Given the description of an element on the screen output the (x, y) to click on. 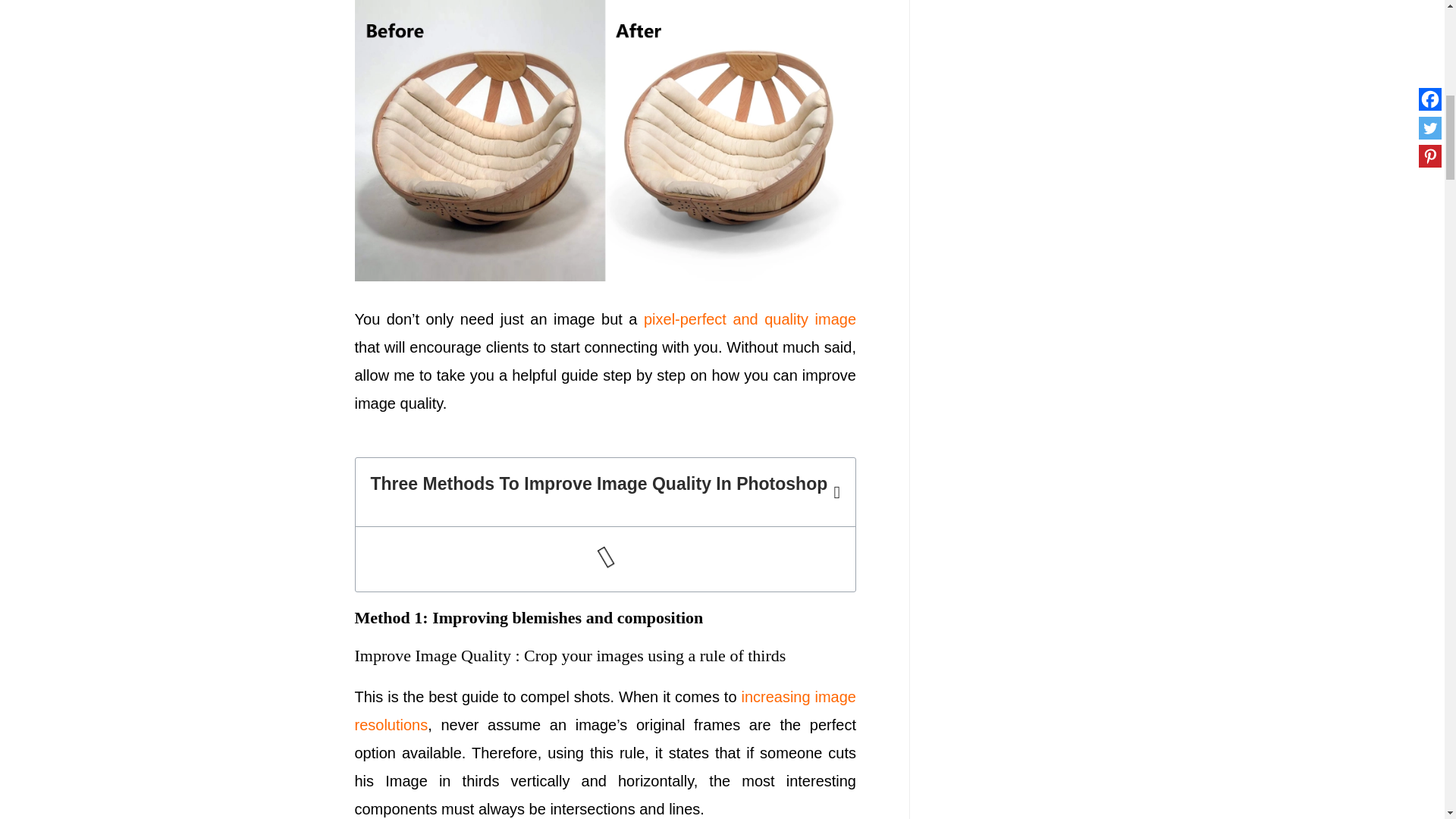
pixel-perfect and quality image (749, 319)
increasing image resolutions (606, 710)
